Given the description of an element on the screen output the (x, y) to click on. 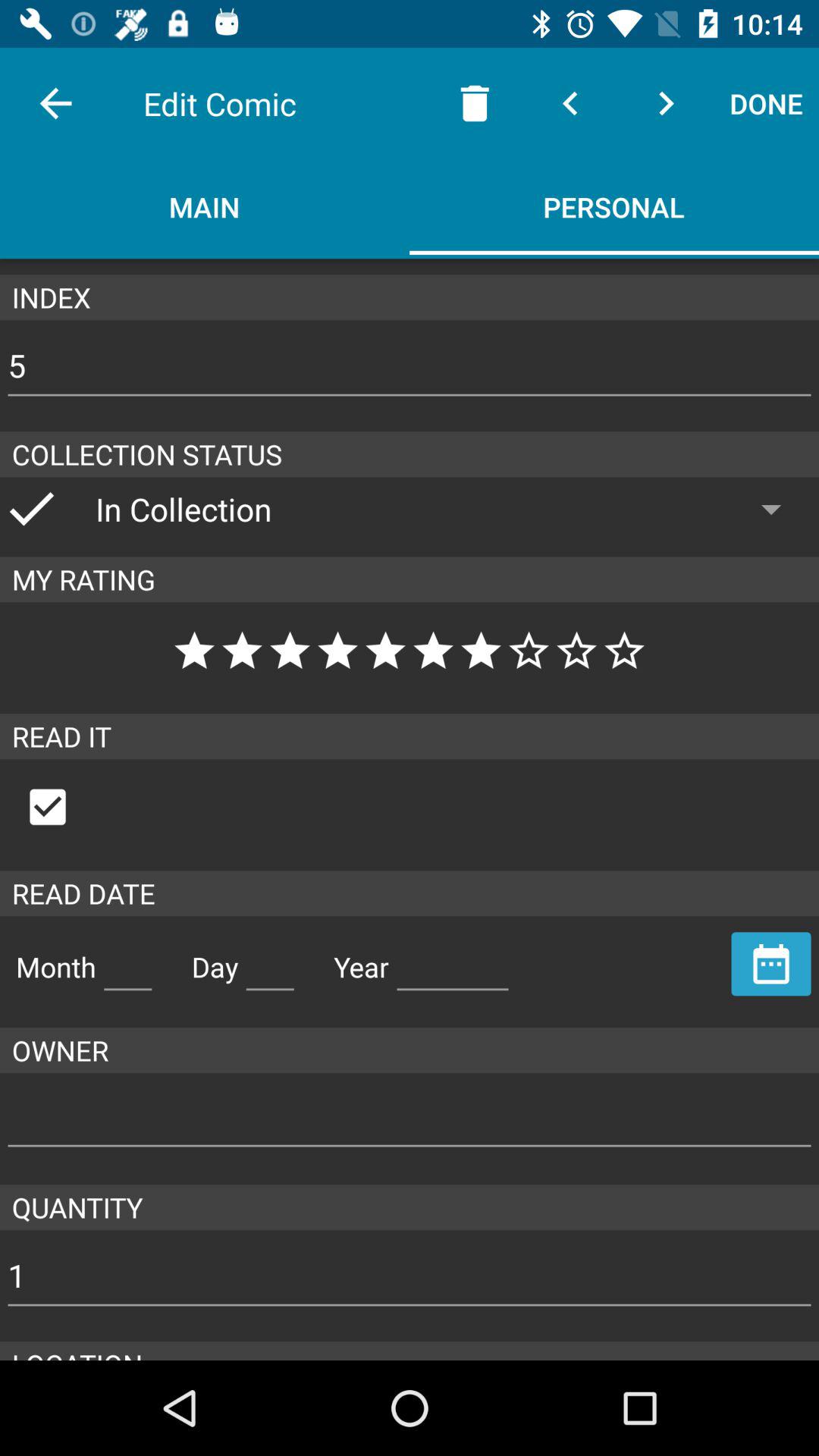
click on the field which is on the right of day and left of year (270, 960)
go to the check box below read it (63, 806)
select the icons which is below the my rating (409, 650)
select the text field which is right to the text month (127, 960)
click on the space provided beside the text year (452, 960)
